Given the description of an element on the screen output the (x, y) to click on. 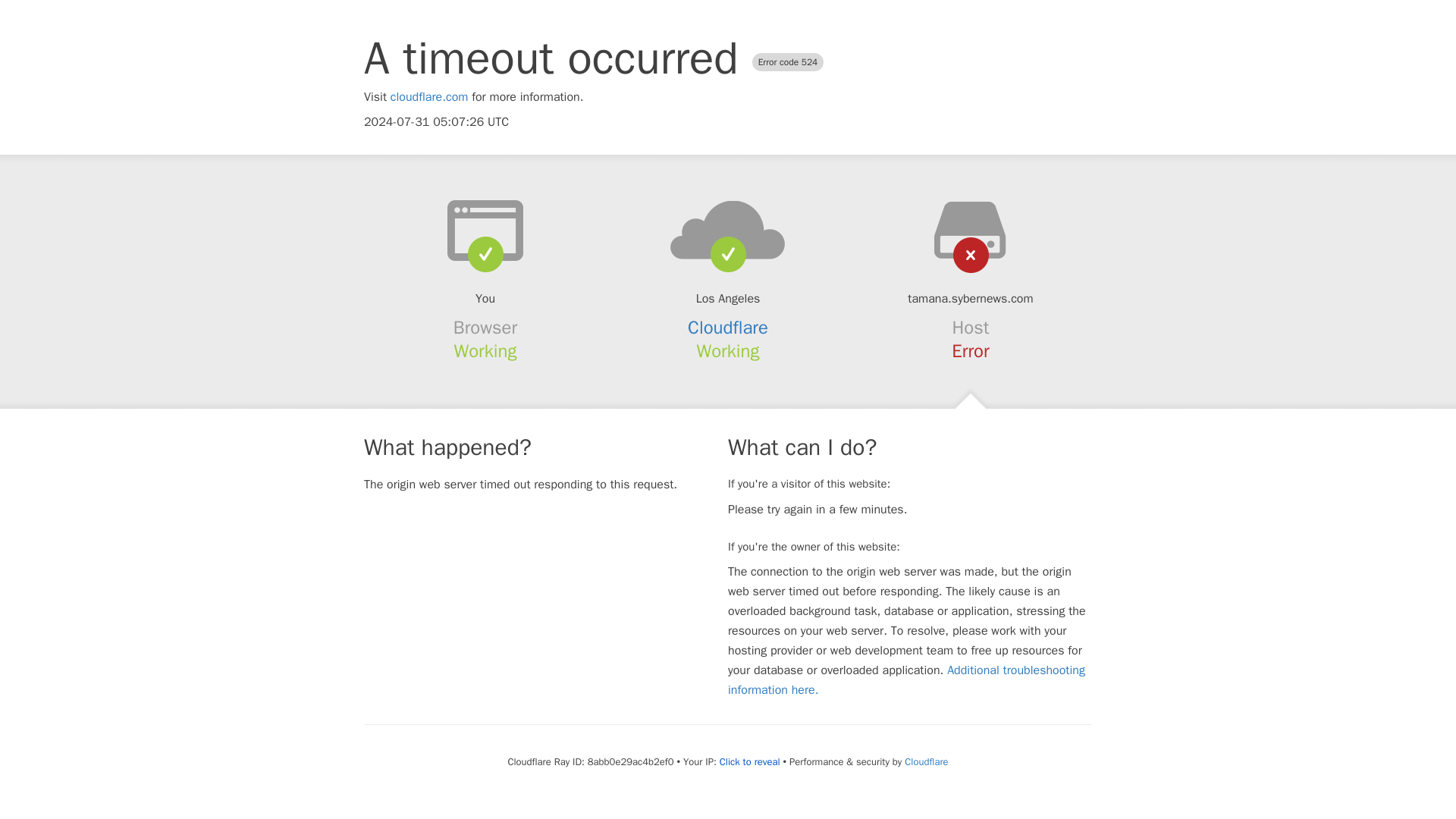
Cloudflare (925, 761)
Cloudflare (727, 327)
Additional troubleshooting information here. (906, 679)
Click to reveal (749, 762)
cloudflare.com (429, 96)
